Given the description of an element on the screen output the (x, y) to click on. 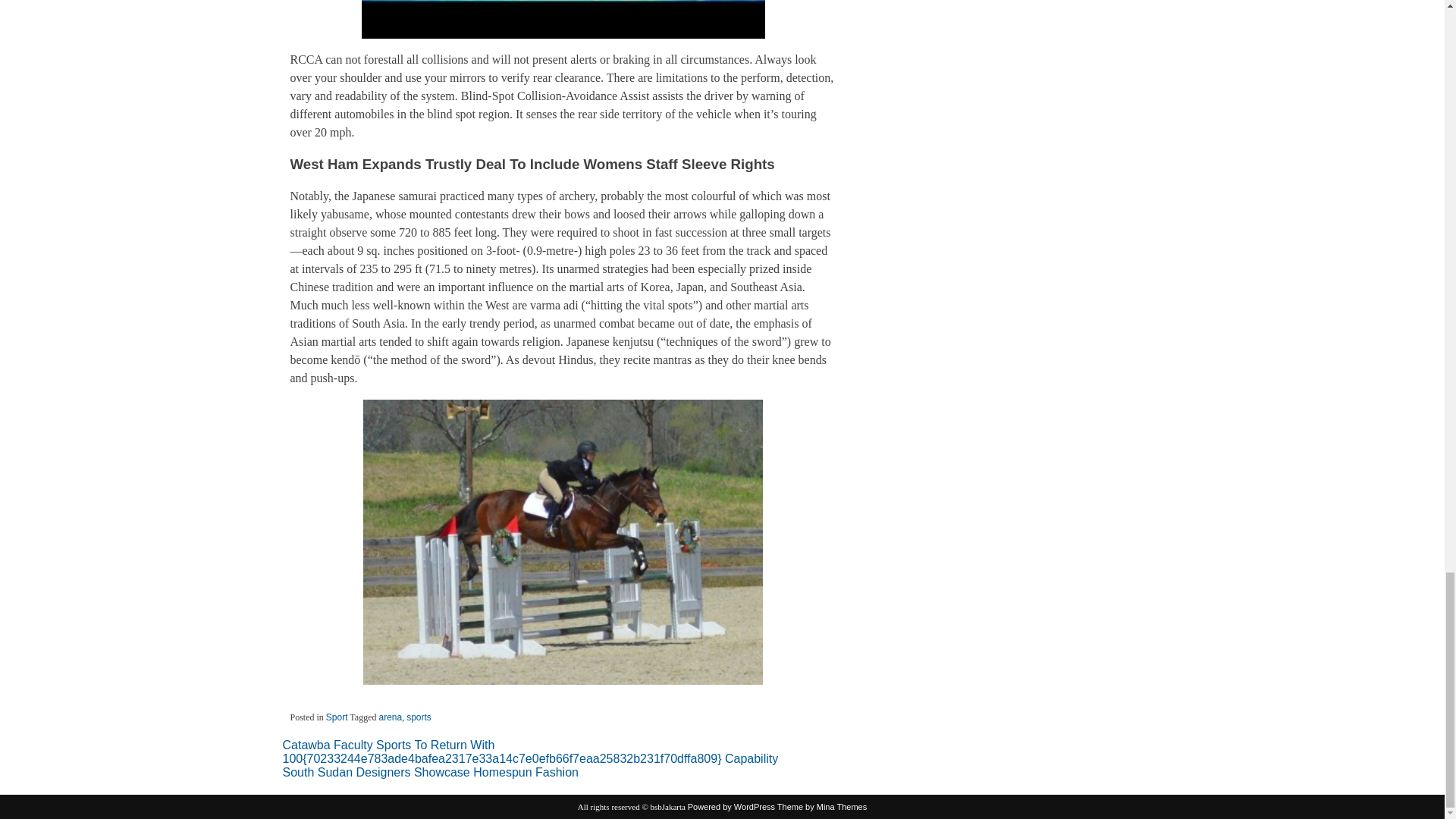
South Sudan Designers Showcase Homespun Fashion (430, 771)
WordPress (730, 806)
Wordpress theme (821, 806)
arena (389, 716)
Sport (336, 716)
sports (418, 716)
